Given the description of an element on the screen output the (x, y) to click on. 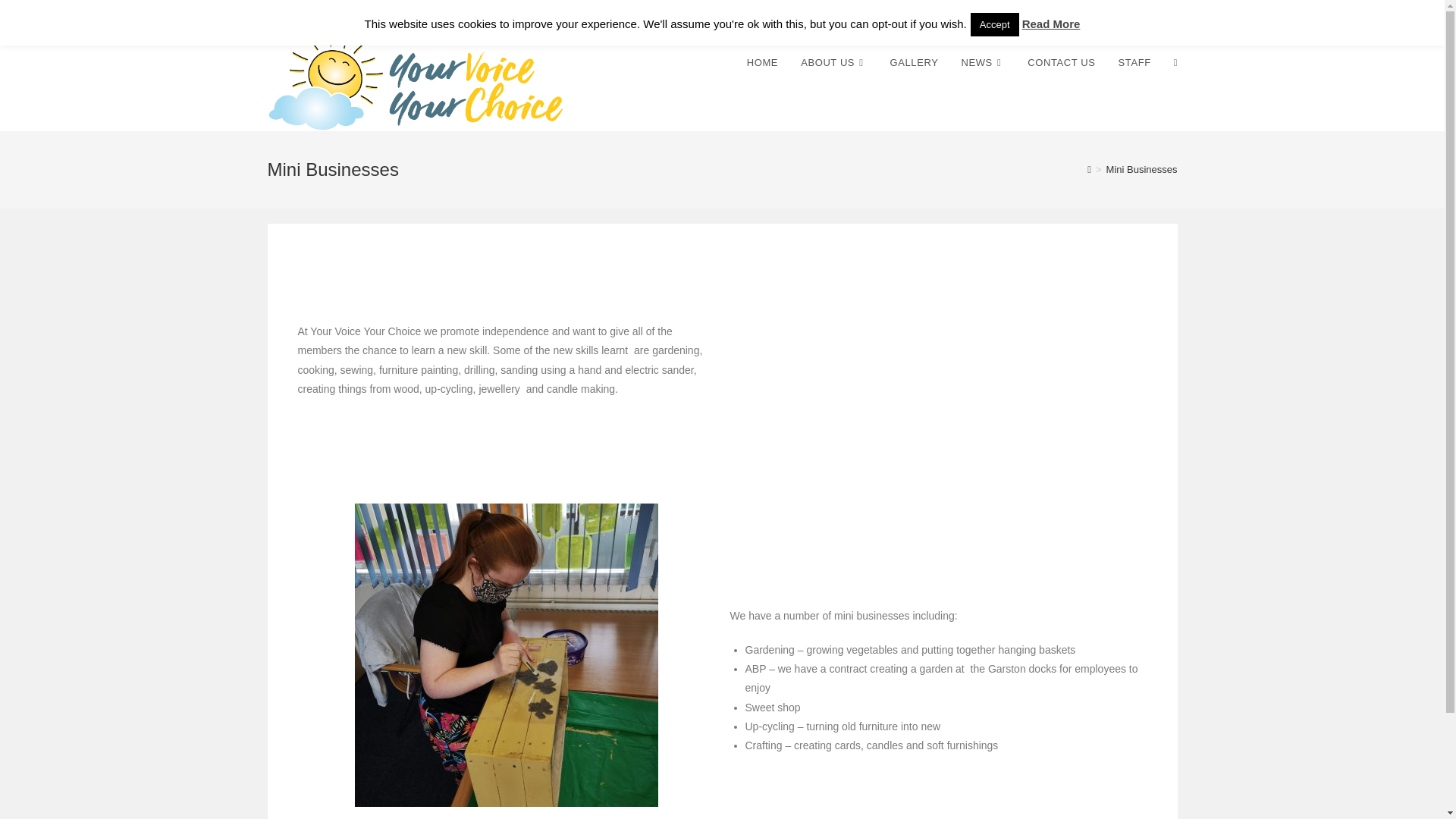
GALLERY (914, 62)
STAFF (1133, 62)
Mini Businesses (1141, 169)
ABOUT US (833, 62)
NEWS (982, 62)
CONTACT US (1061, 62)
Read More (1051, 23)
Accept (995, 24)
HOME (762, 62)
sarah craft (506, 654)
